Given the description of an element on the screen output the (x, y) to click on. 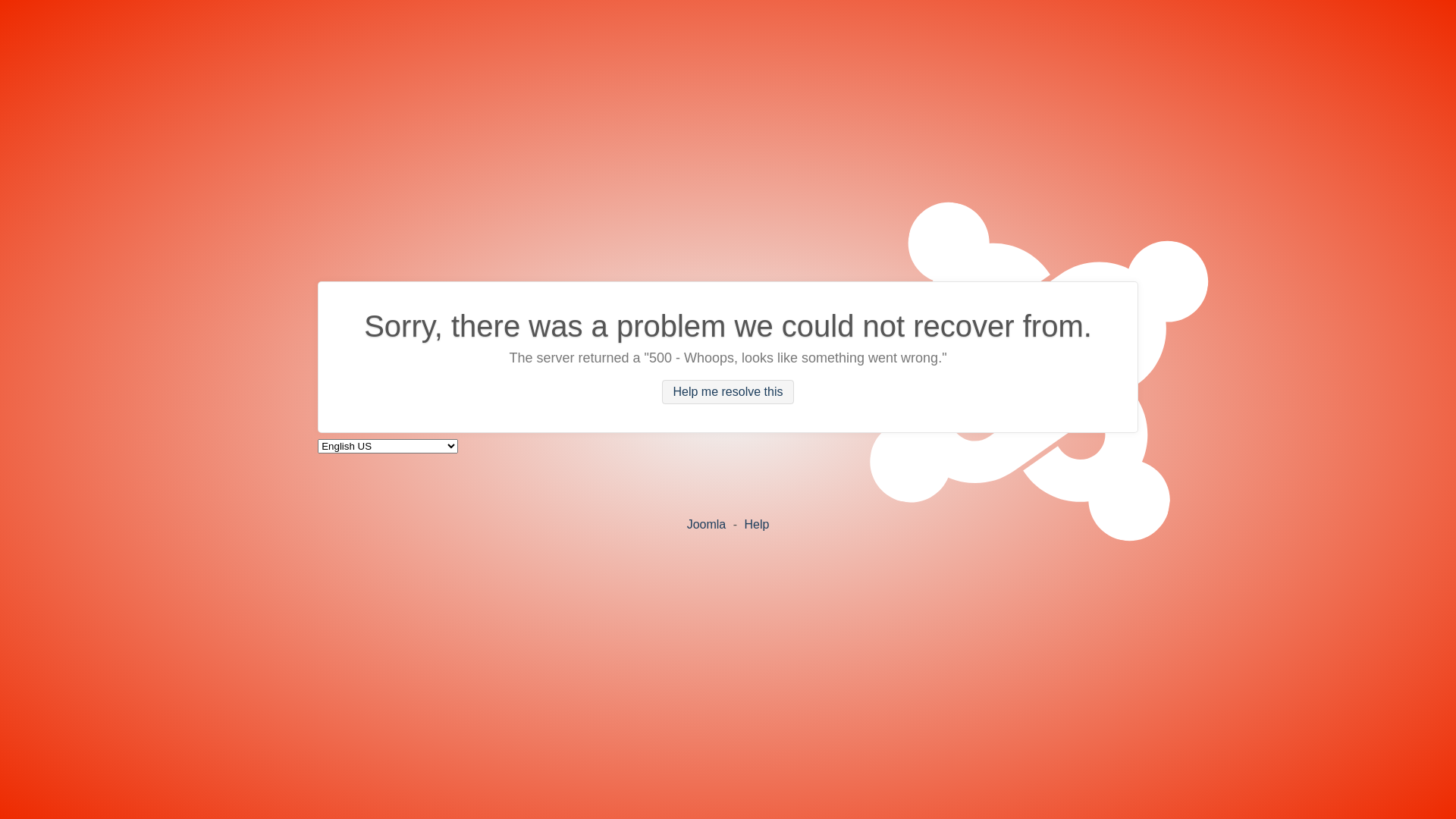
Help me resolve this Element type: text (727, 391)
Joomla Element type: text (706, 523)
Help Element type: text (755, 523)
